Given the description of an element on the screen output the (x, y) to click on. 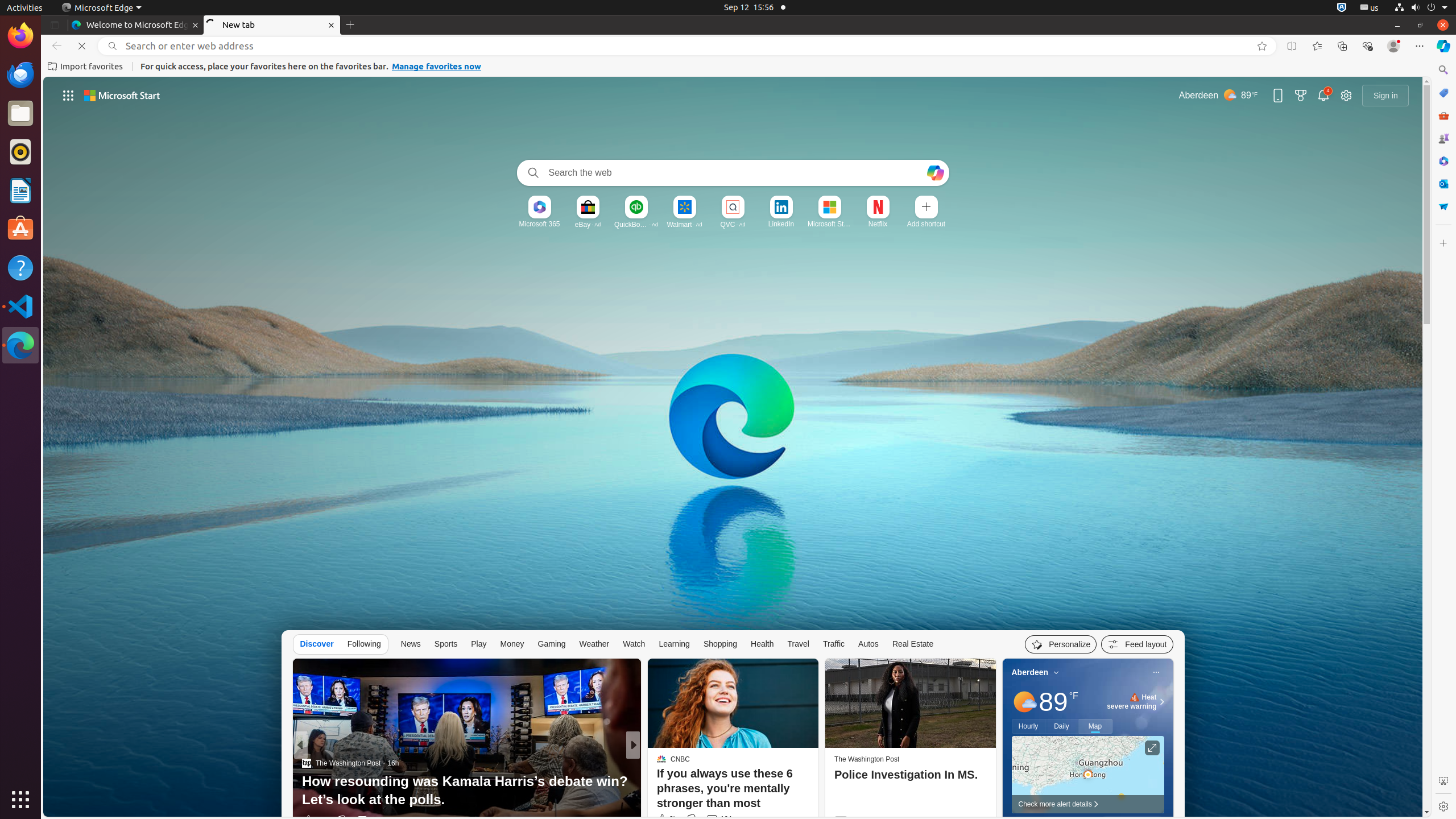
Tab actions menu Element type: push-button (54, 24)
LinkedIn Element type: link (780, 223)
Browser essentials Element type: push-button (1366, 45)
Outlook Element type: push-button (1443, 183)
Visual Studio Code Element type: push-button (20, 306)
